Given the description of an element on the screen output the (x, y) to click on. 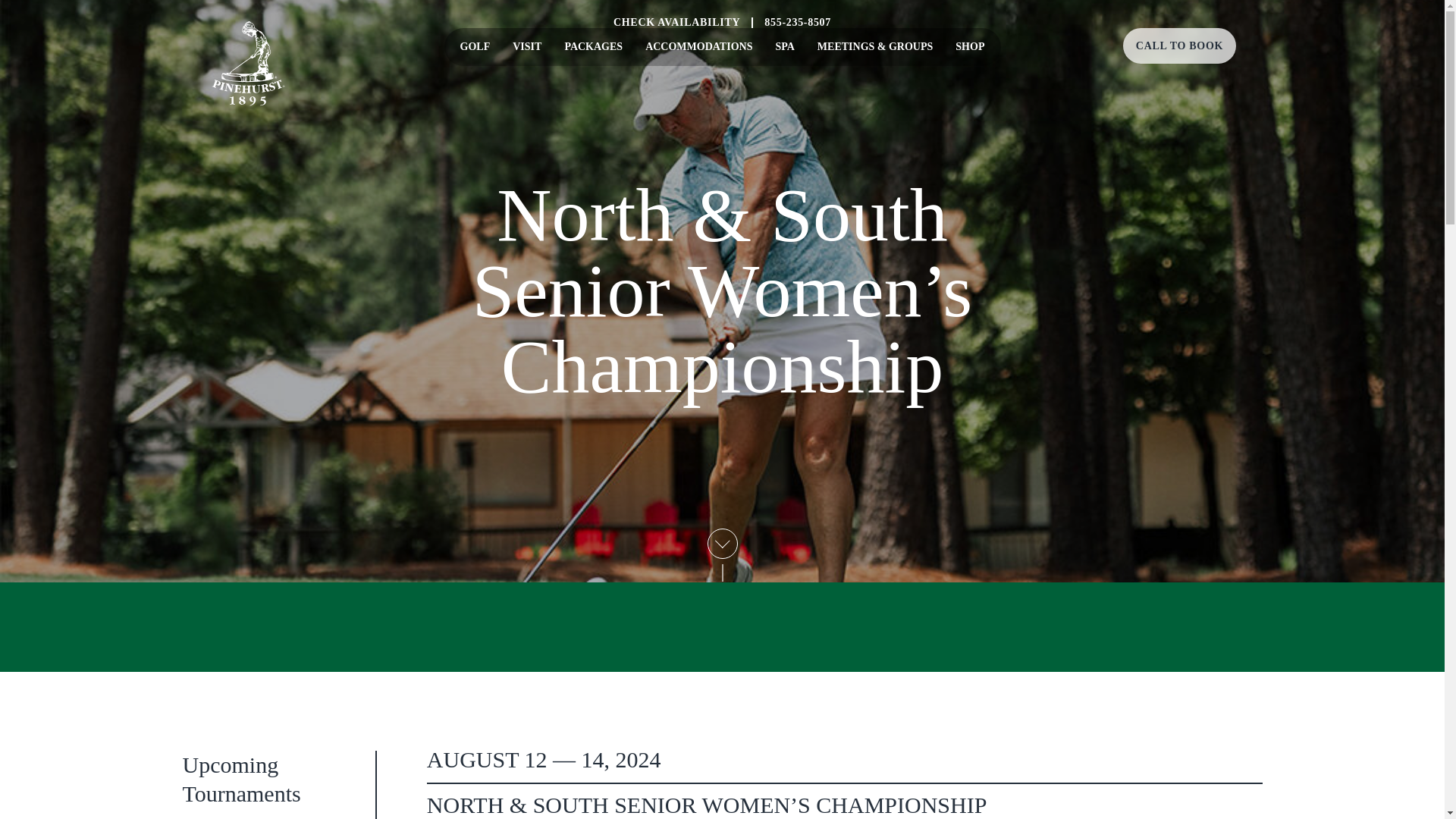
Accommodations at Pinehurst (697, 46)
GOLF (475, 46)
CHECK AVAILABILITY (676, 36)
VISIT (526, 46)
Visit Pinehurst (526, 46)
CALL TO BOOK (1179, 45)
Packages for trips to Pinehurst (593, 46)
855-235-8507 (797, 36)
Pinehurst Golf (475, 46)
